Given the description of an element on the screen output the (x, y) to click on. 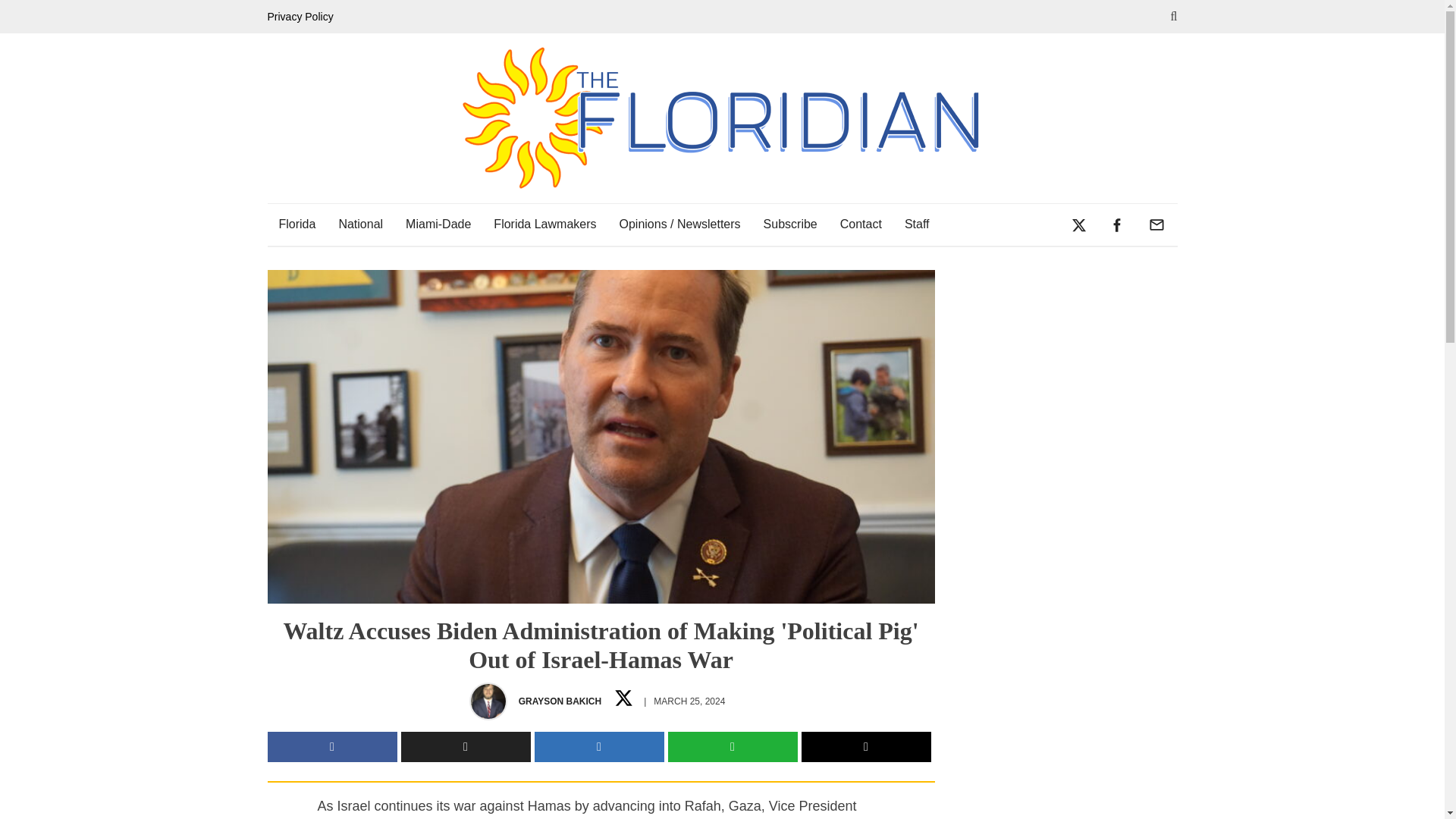
Contact (860, 223)
GRAYSON BAKICH (560, 701)
Staff (916, 223)
Subscribe (790, 223)
National (360, 223)
Florida Lawmakers (544, 223)
Miami-Dade (437, 223)
Privacy Policy (303, 16)
Florida (296, 223)
